Given the description of an element on the screen output the (x, y) to click on. 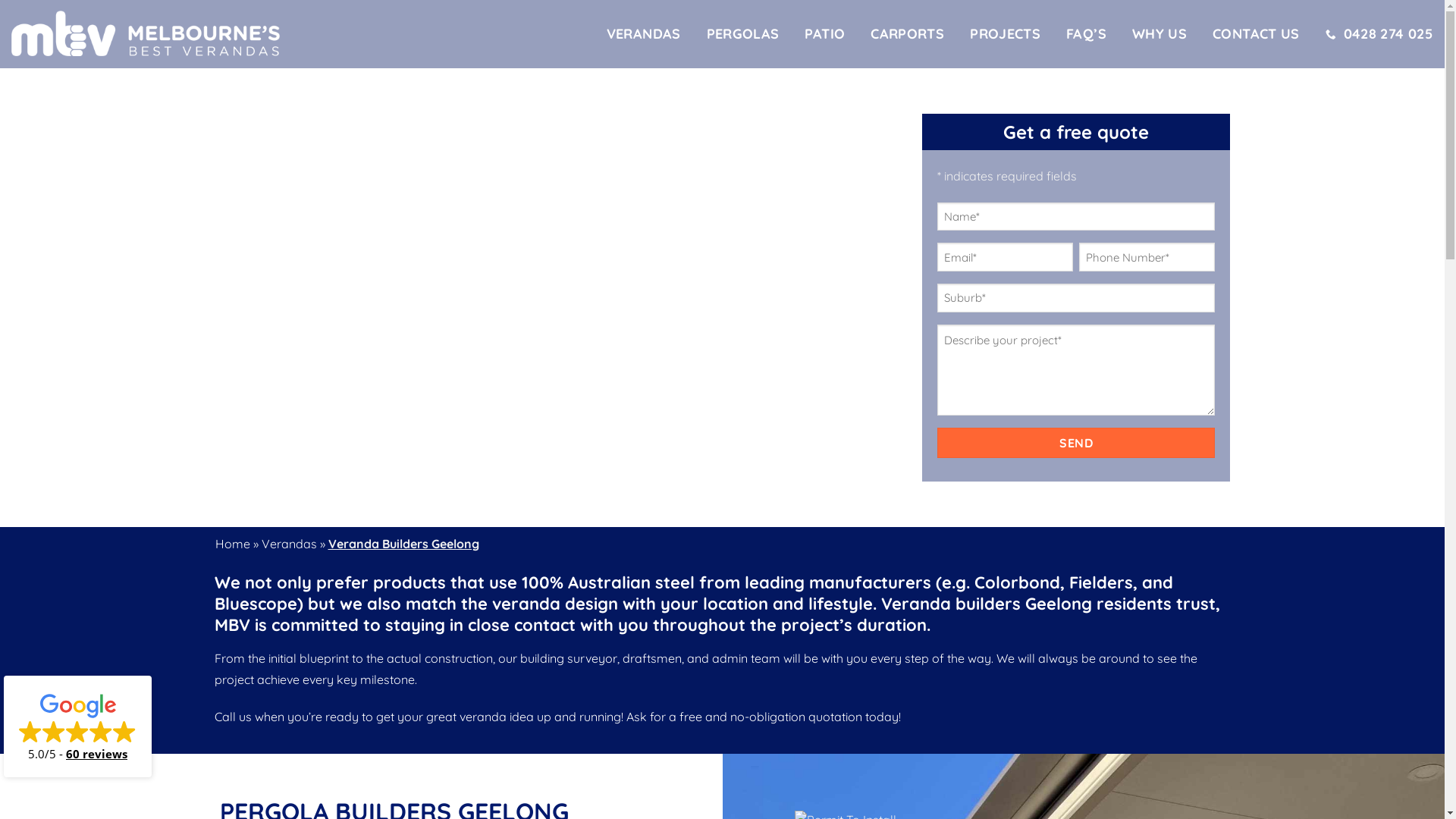
0428 274 025 Element type: text (1388, 34)
WHY US Element type: text (1159, 34)
PROJECTS Element type: text (1005, 34)
Home Element type: text (232, 543)
PATIO Element type: text (824, 34)
Verandas Element type: text (288, 543)
Send Element type: text (1076, 442)
CONTACT US Element type: text (1255, 34)
PERGOLAS Element type: text (742, 34)
5.0/5 - 60 reviews Element type: text (77, 726)
Skip to content Element type: text (0, 0)
Verandas Melbourne Element type: hover (145, 33)
CARPORTS Element type: text (907, 34)
VERANDAS Element type: text (643, 34)
